Given the description of an element on the screen output the (x, y) to click on. 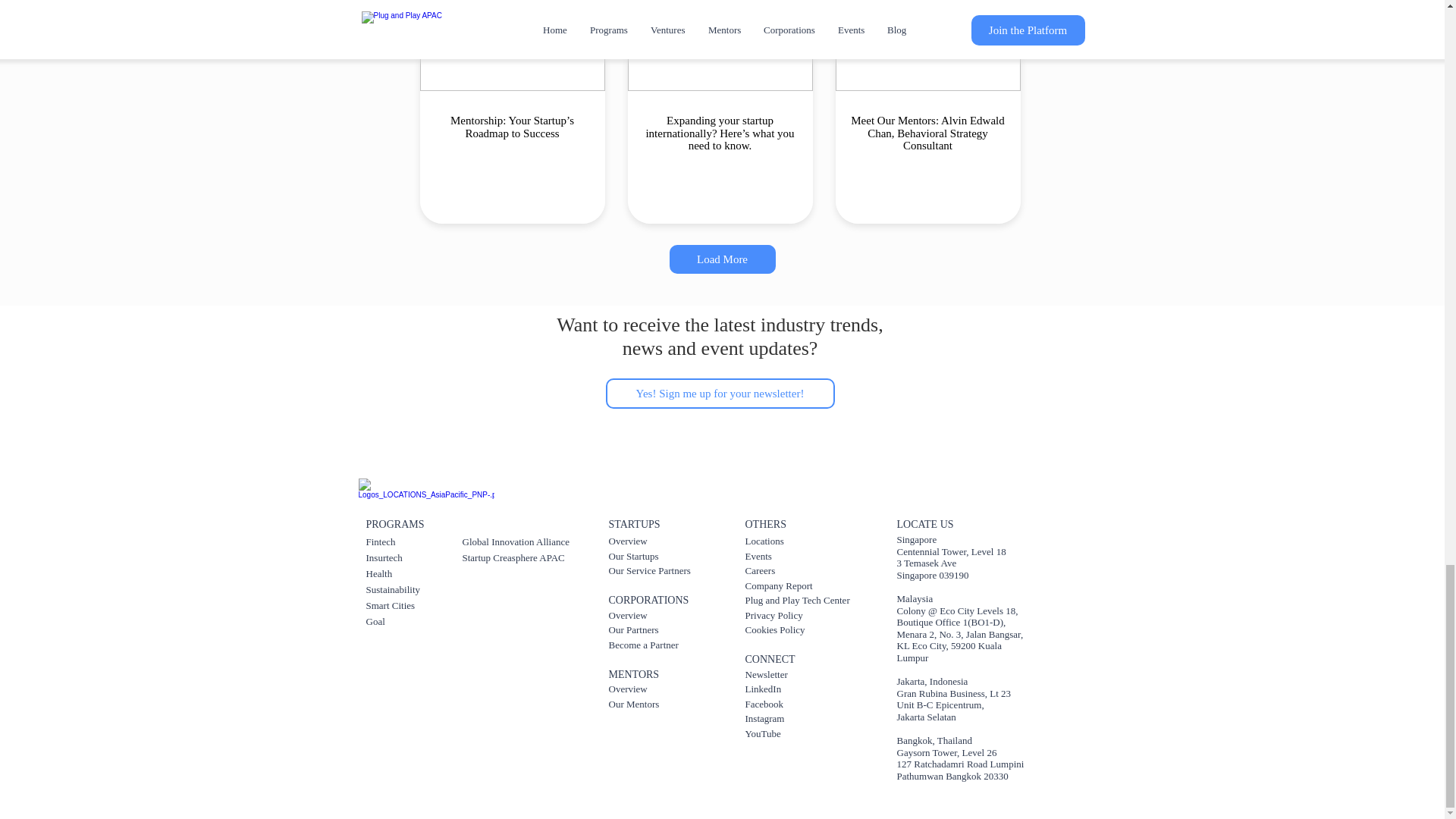
Health (378, 573)
PROGRAMS (394, 523)
Insurtech (383, 557)
Load More (721, 258)
Yes! Sign me up for your newsletter! (719, 393)
Fintech (379, 541)
